Given the description of an element on the screen output the (x, y) to click on. 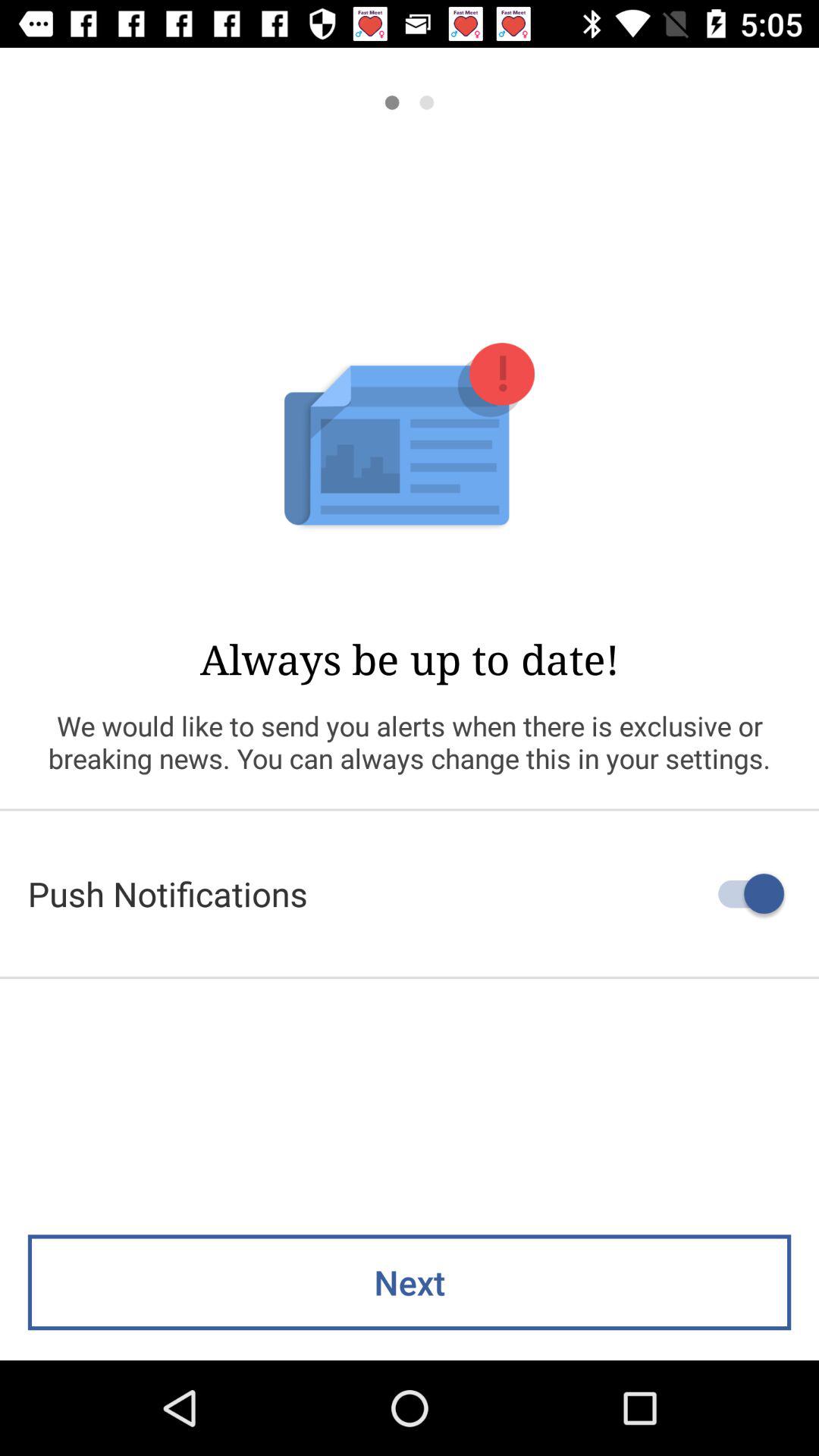
open the push notifications icon (409, 893)
